Given the description of an element on the screen output the (x, y) to click on. 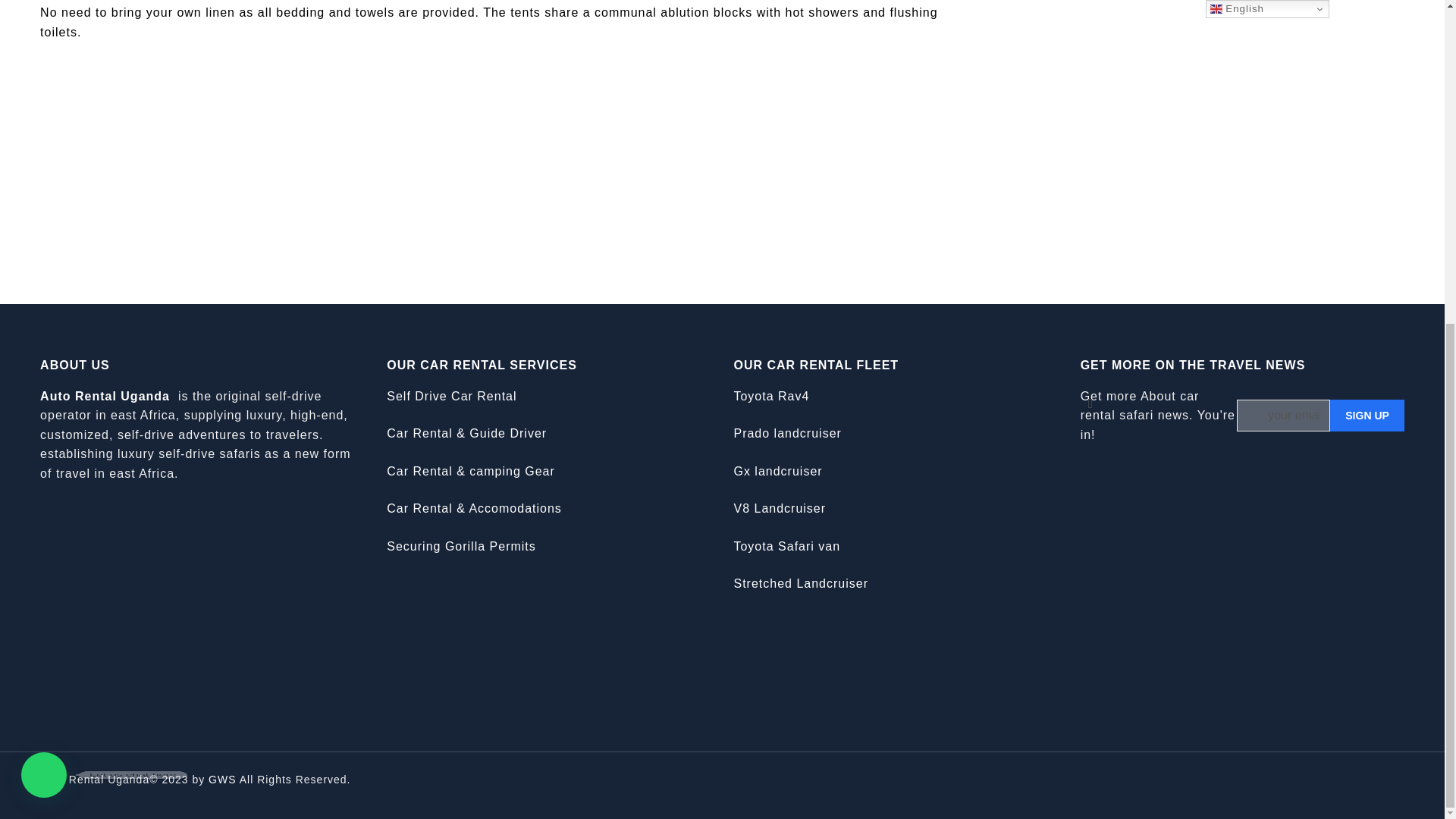
Sign up (1367, 415)
